Given the description of an element on the screen output the (x, y) to click on. 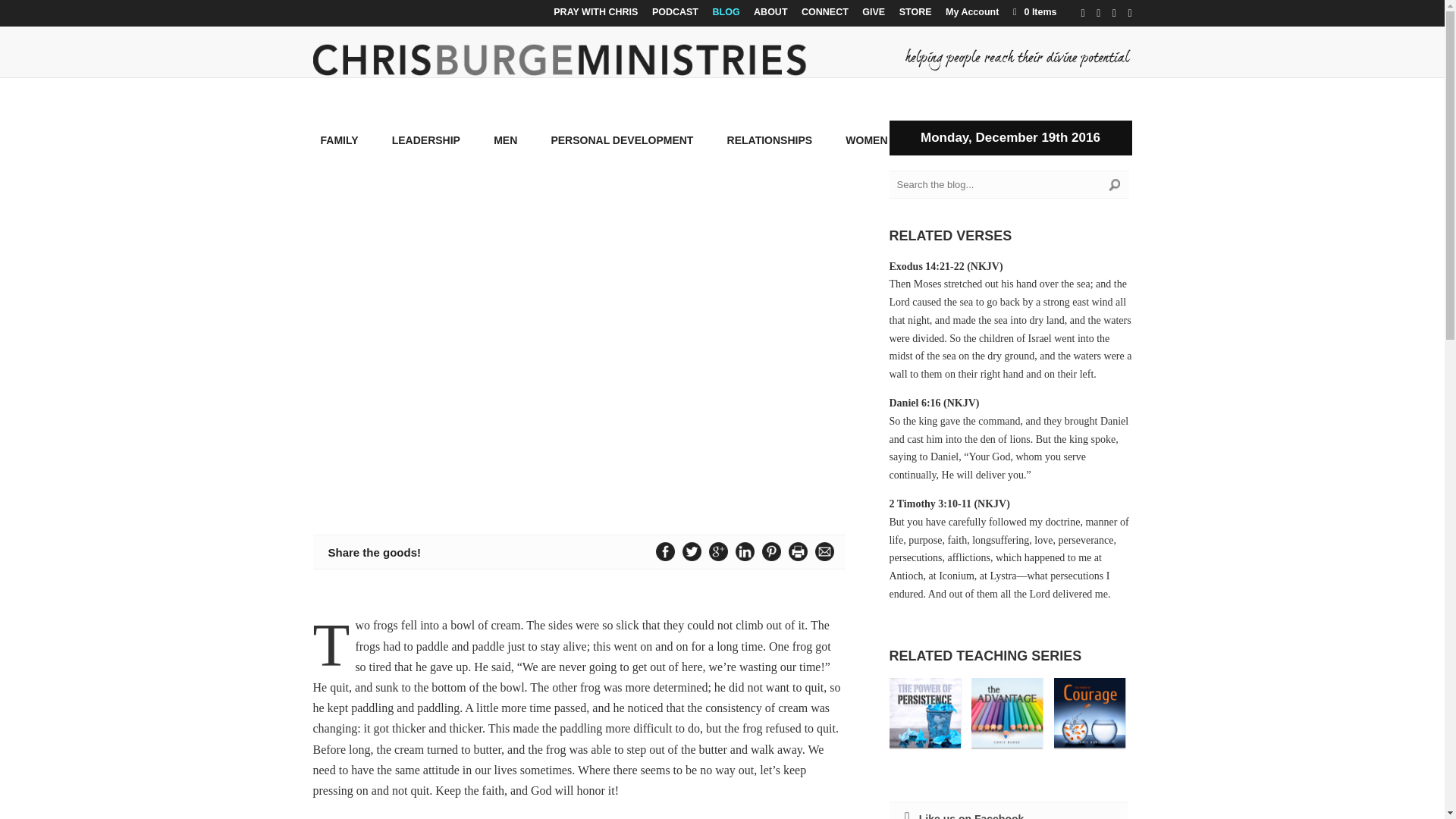
PRAY WITH CHRIS (595, 16)
ABOUT (770, 16)
PERSONAL DEVELOPMENT (621, 151)
CONNECT (825, 16)
Email this page (824, 551)
Pin this page (771, 551)
0 Items (1033, 11)
Share this on Linkedin (745, 551)
Share this on Facebook (665, 551)
LEADERSHIP (425, 151)
STORE (915, 16)
Tagline (1017, 58)
WOMEN (865, 151)
BLOG (726, 16)
Print this page (797, 551)
